Given the description of an element on the screen output the (x, y) to click on. 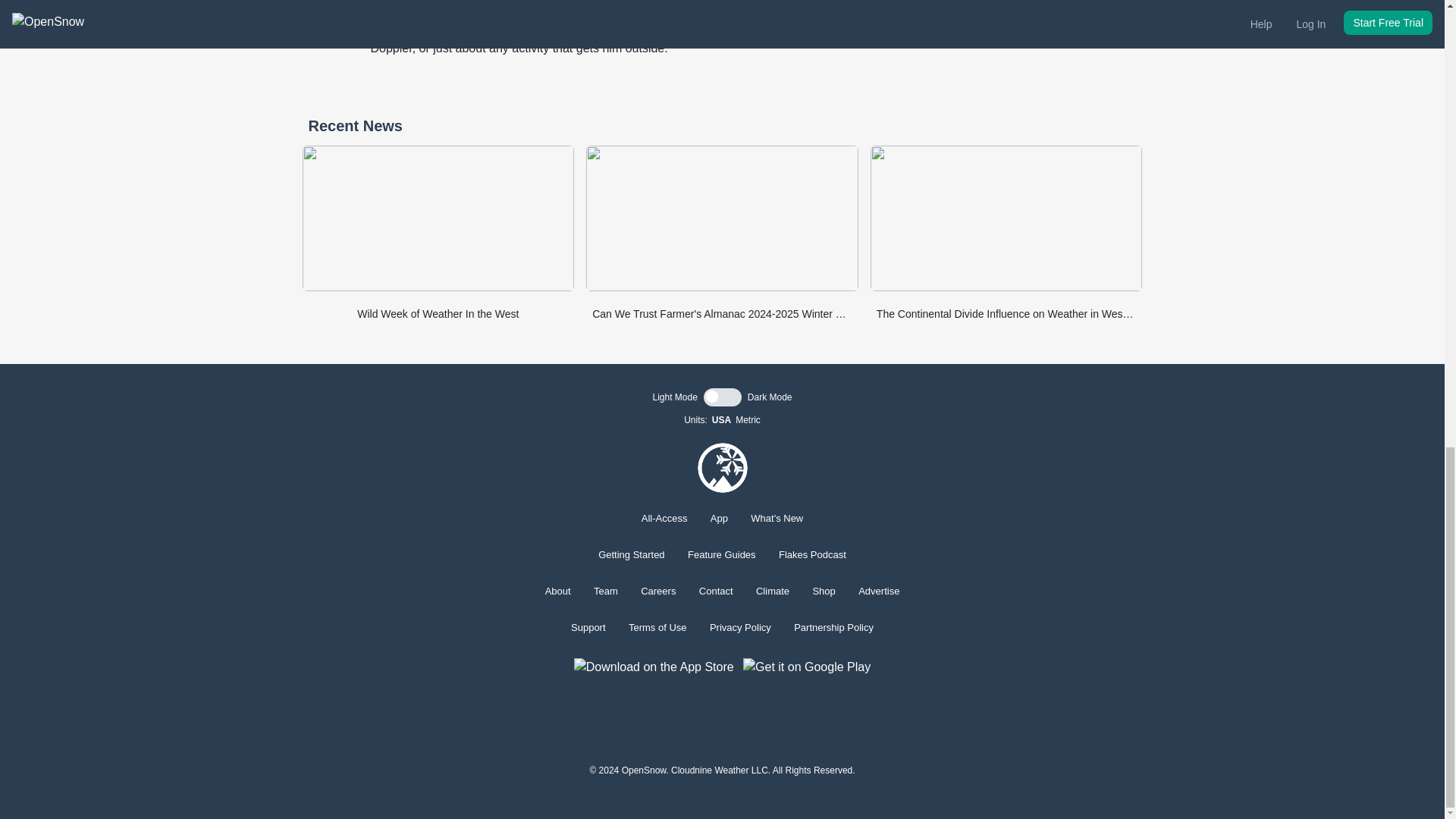
What's New (777, 518)
App (719, 518)
Careers (657, 591)
Shop (823, 591)
Climate (772, 591)
Privacy Policy (740, 627)
Contact (715, 591)
USA (720, 419)
Metric (747, 419)
Flakes Podcast (811, 554)
